Given the description of an element on the screen output the (x, y) to click on. 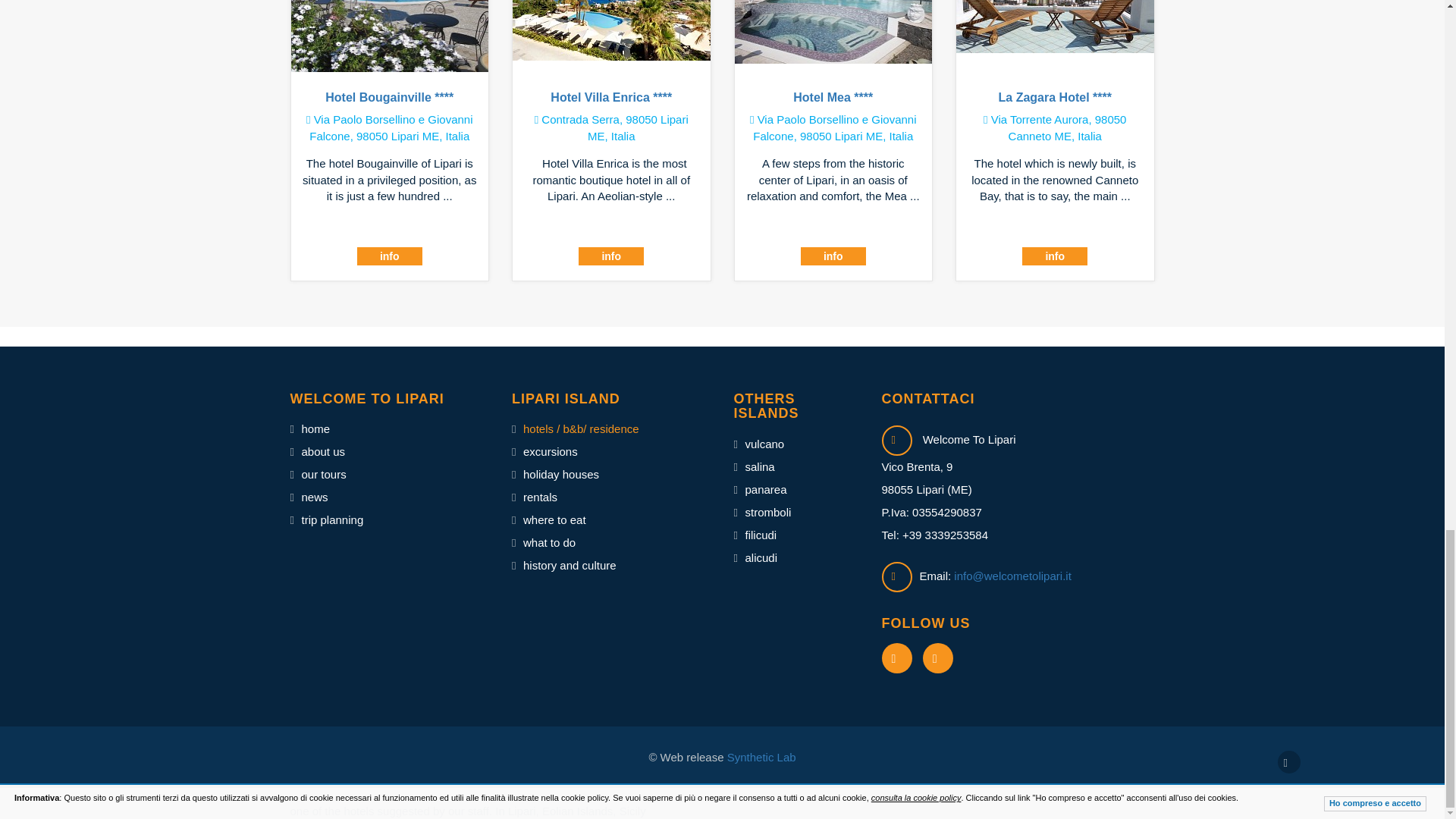
Realizzazione siti web milazzo provincia messina sicilia (759, 757)
